Given the description of an element on the screen output the (x, y) to click on. 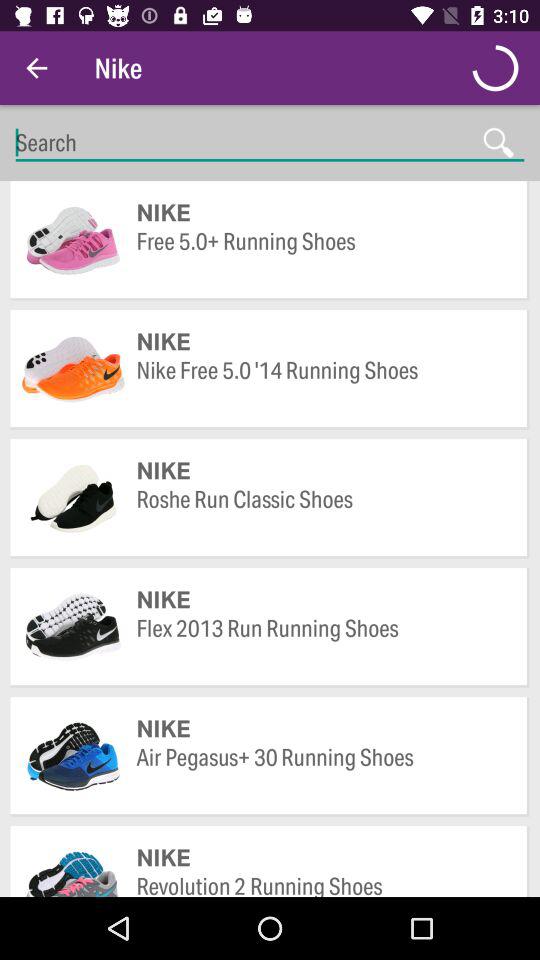
jump to the air pegasus 30 (322, 772)
